Given the description of an element on the screen output the (x, y) to click on. 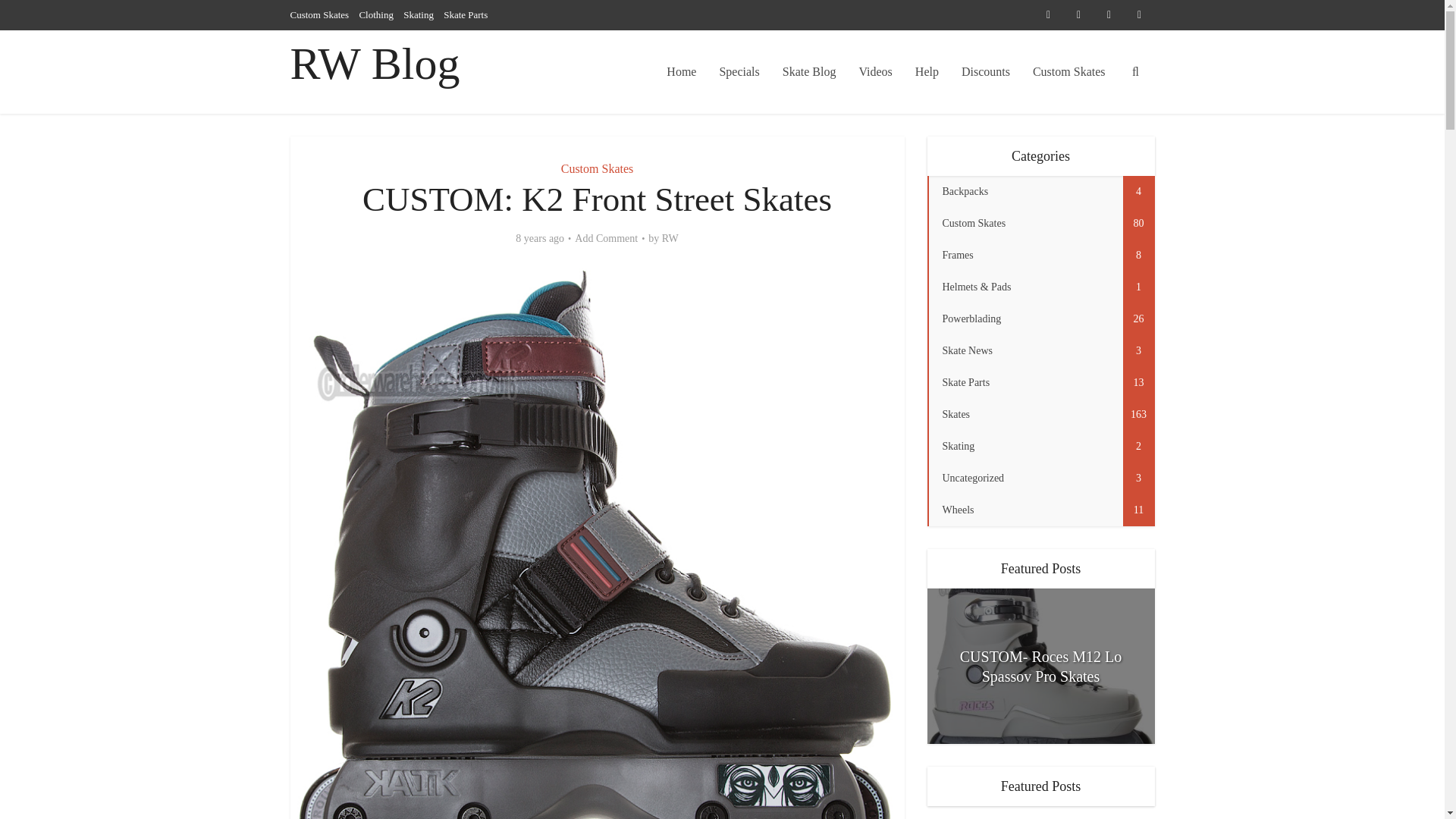
RW Blog (374, 63)
Skating (418, 14)
Skate Parts (465, 14)
Custom Skates (596, 168)
Add Comment (606, 238)
RW (670, 238)
Custom Skates (1069, 71)
Skate Blog (809, 71)
Clothing (375, 14)
Custom Skates (319, 14)
